Given the description of an element on the screen output the (x, y) to click on. 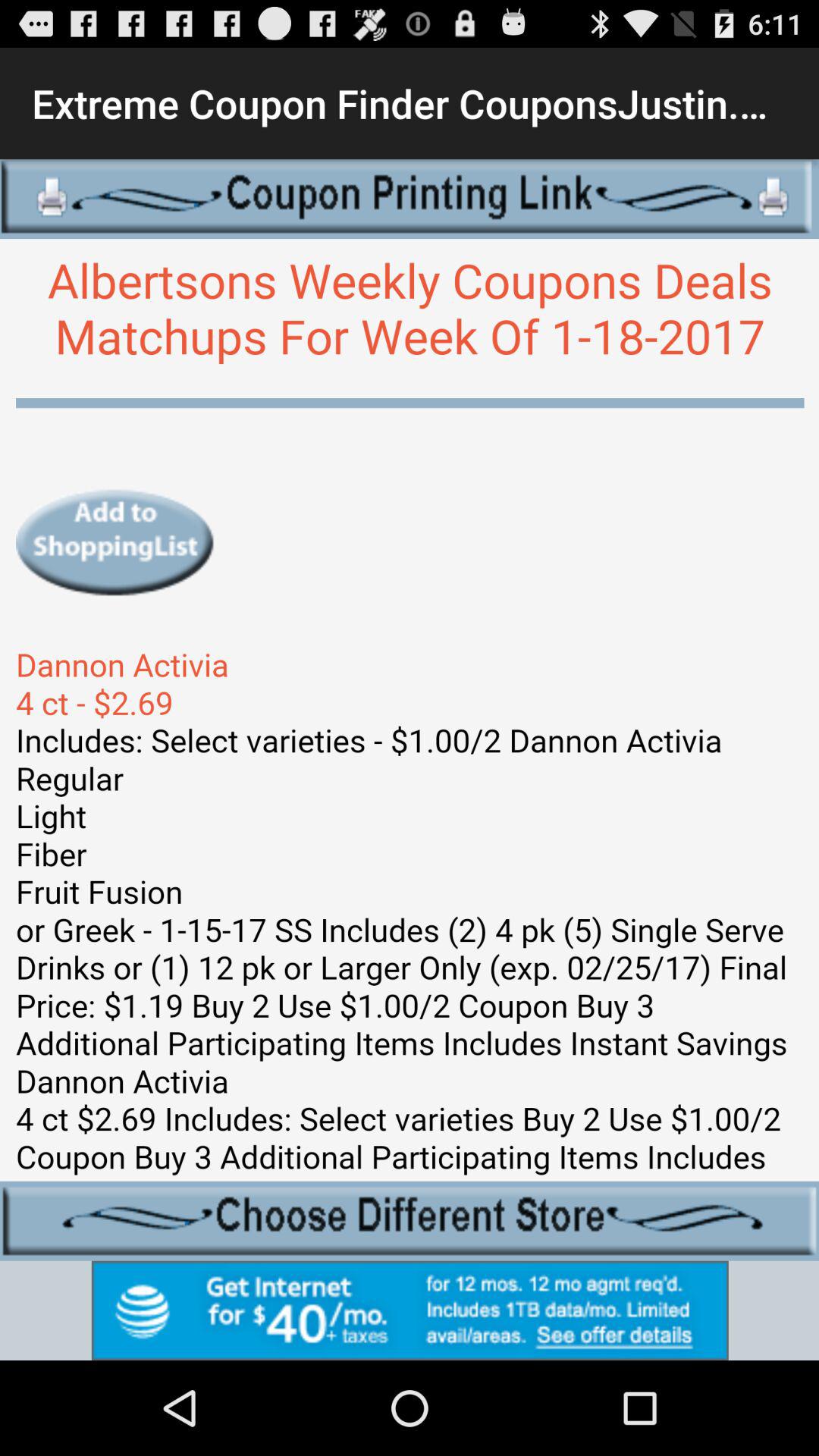
description (409, 709)
